Given the description of an element on the screen output the (x, y) to click on. 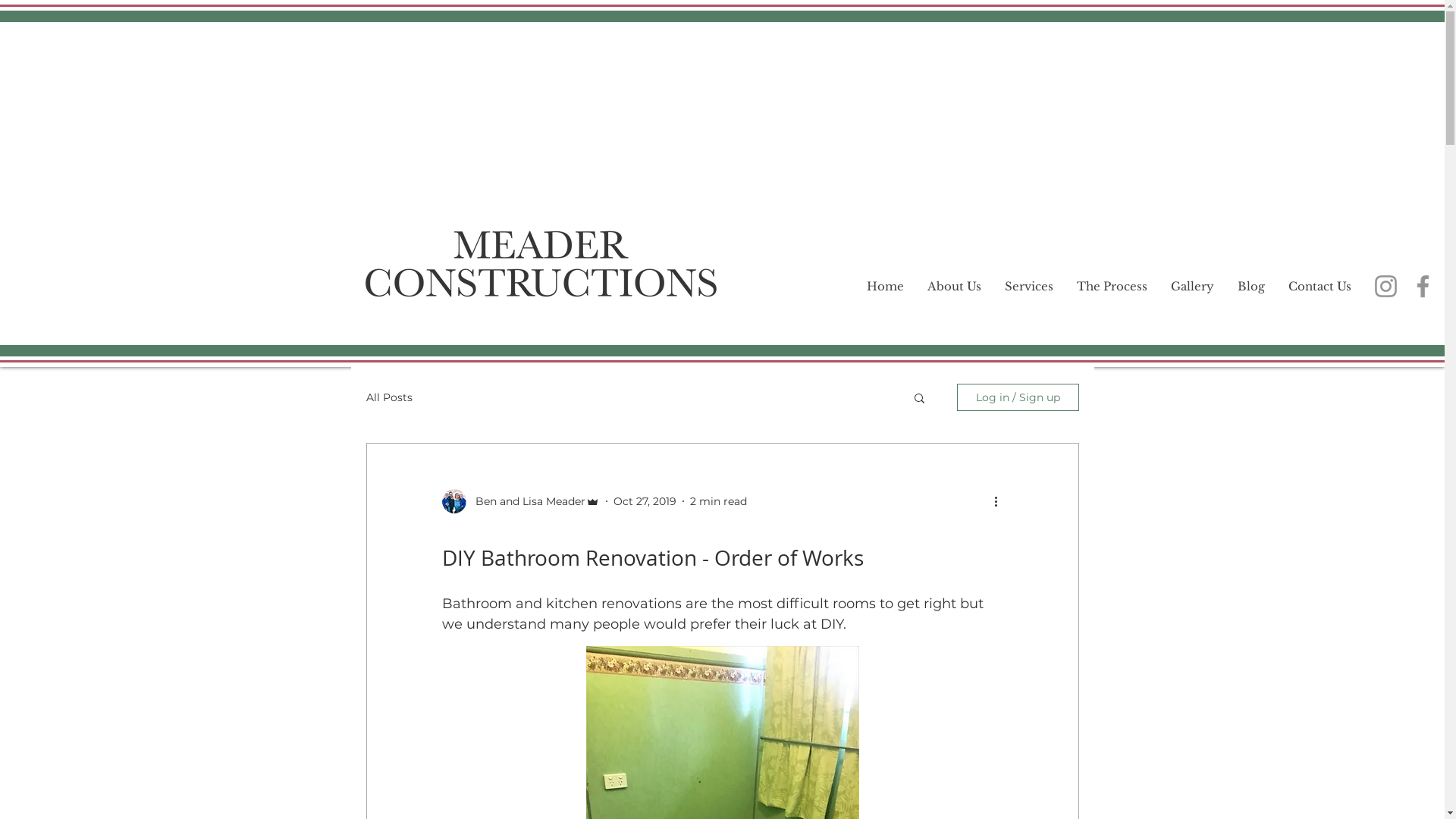
Log in / Sign up Element type: text (1018, 397)
Contact Us Element type: text (1318, 286)
About Us Element type: text (952, 286)
The Process Element type: text (1111, 286)
Blog Element type: text (1250, 286)
Services Element type: text (1027, 286)
Home Element type: text (885, 286)
Gallery Element type: text (1191, 286)
All Posts Element type: text (388, 397)
